Given the description of an element on the screen output the (x, y) to click on. 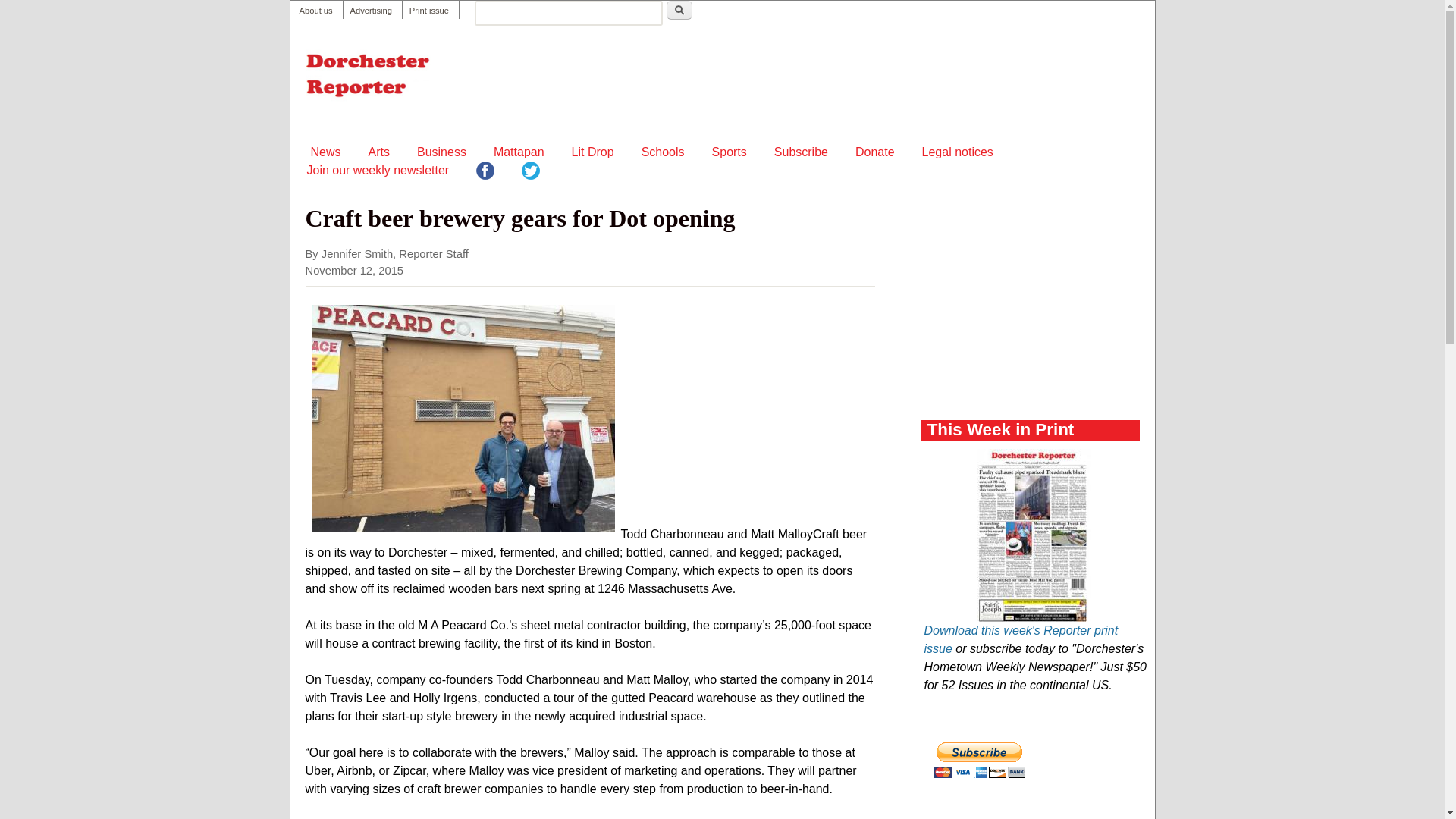
The DotNews Twitter feed (530, 173)
Print issue (428, 10)
Schools (662, 152)
Advertising (371, 10)
Business (440, 152)
3rd party ad content (1034, 309)
About us (315, 10)
Enter the terms you wish to search for. (568, 12)
Subscribe (801, 152)
Dorchester Reporter weekly print issue (428, 10)
